Given the description of an element on the screen output the (x, y) to click on. 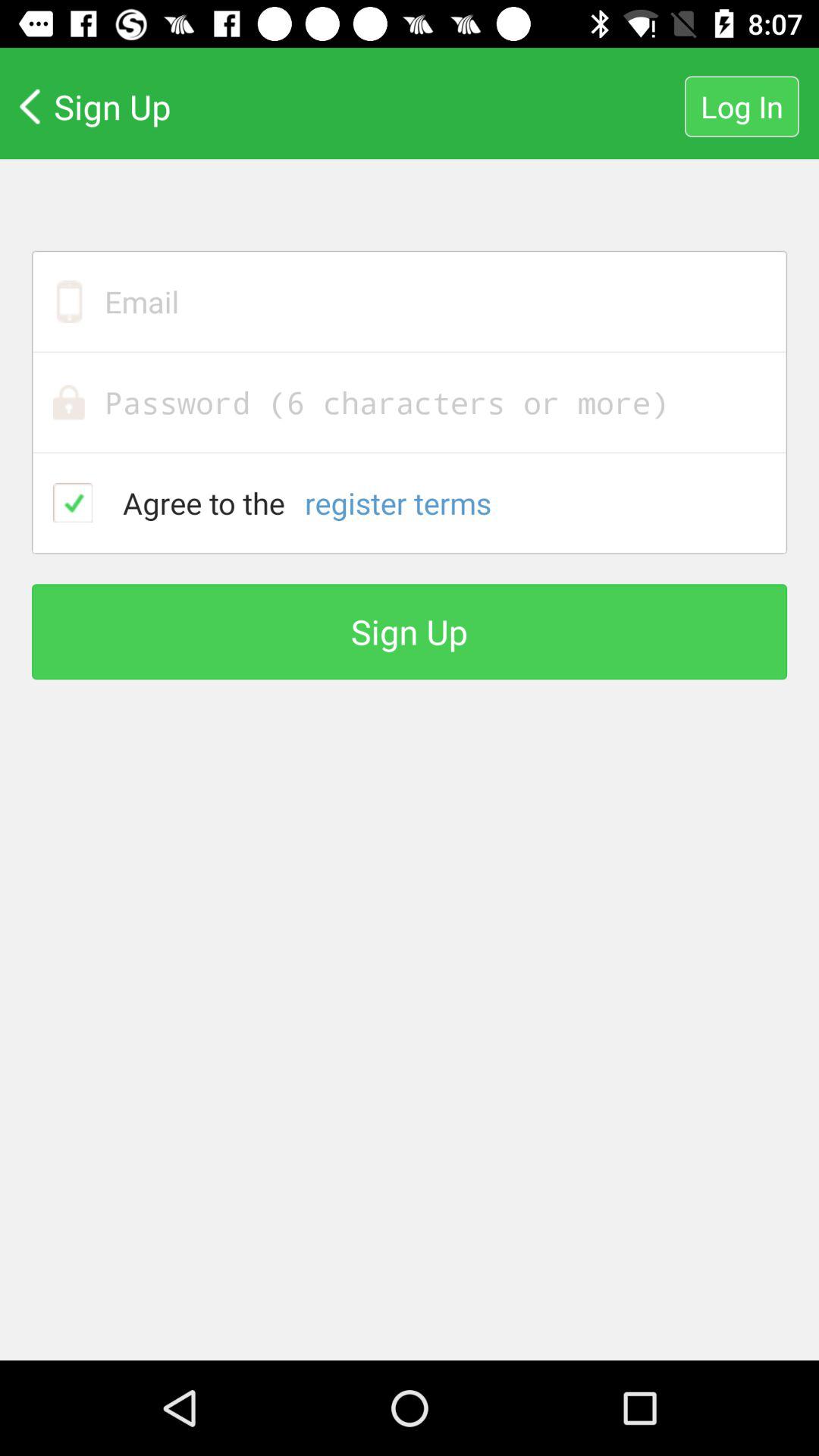
password for new user (409, 402)
